Given the description of an element on the screen output the (x, y) to click on. 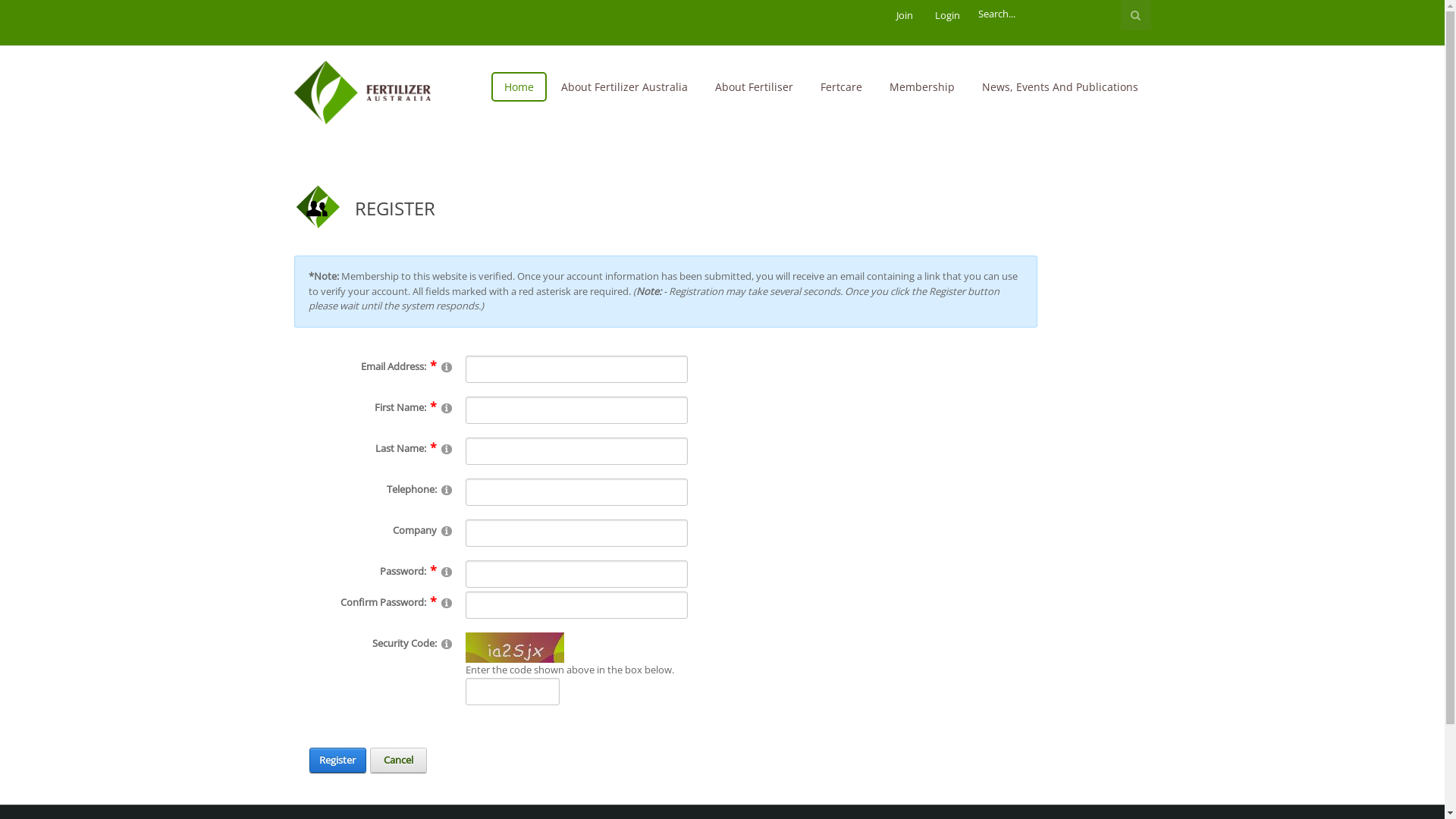
About Fertilizer Australia Element type: text (623, 86)
Clear search text Element type: hover (1137, 21)
Join Element type: text (904, 15)
Fertcare Element type: text (840, 86)
Search Element type: text (1135, 15)
Login Element type: text (946, 15)
Membership Element type: text (921, 86)
Cancel Element type: text (398, 760)
Register Element type: text (337, 760)
News, Events And Publications Element type: text (1060, 86)
Fertilizer Australia Element type: hover (370, 91)
Home Element type: text (518, 86)
About Fertiliser Element type: text (754, 86)
